Given the description of an element on the screen output the (x, y) to click on. 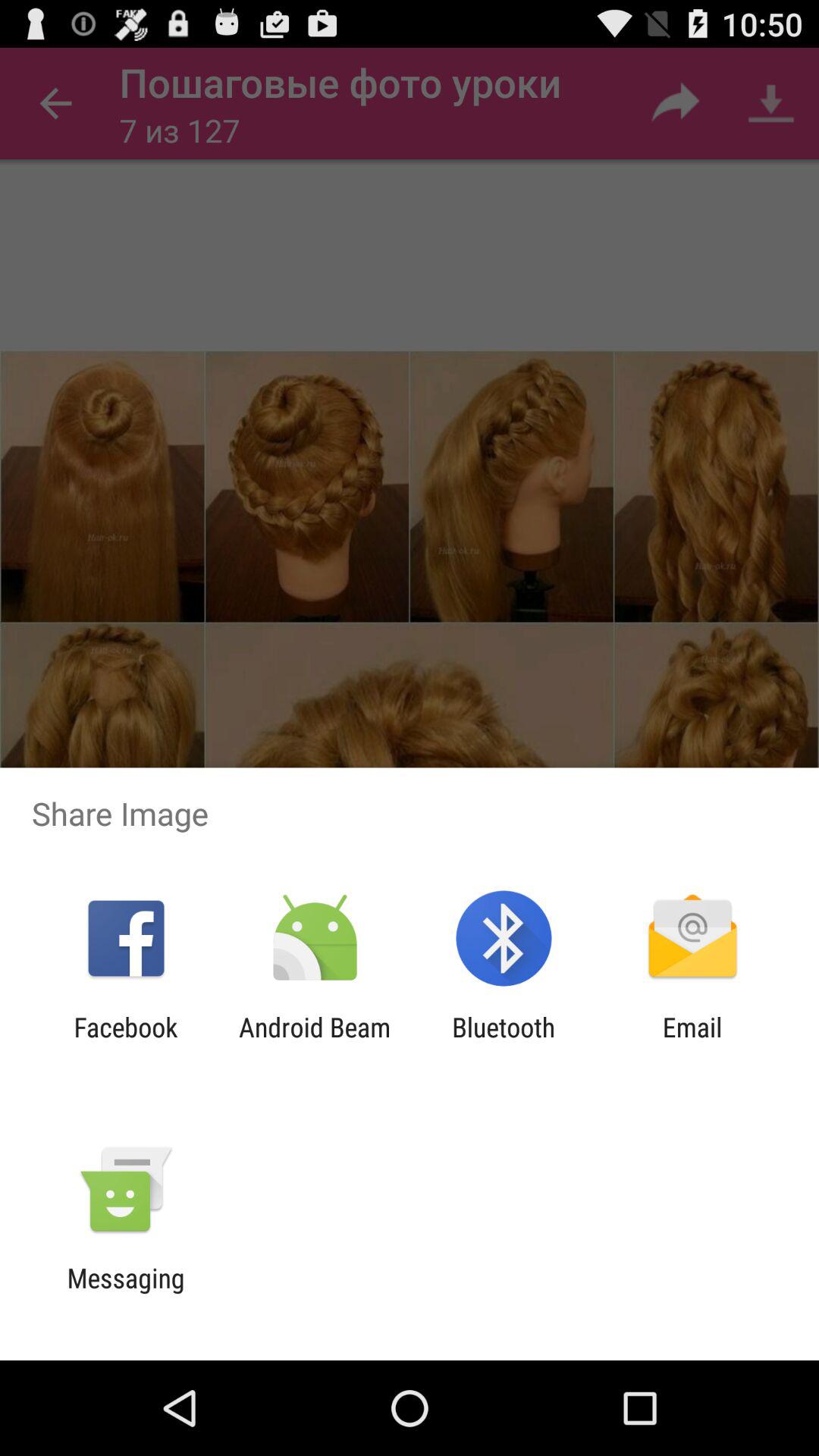
open the email at the bottom right corner (692, 1042)
